Given the description of an element on the screen output the (x, y) to click on. 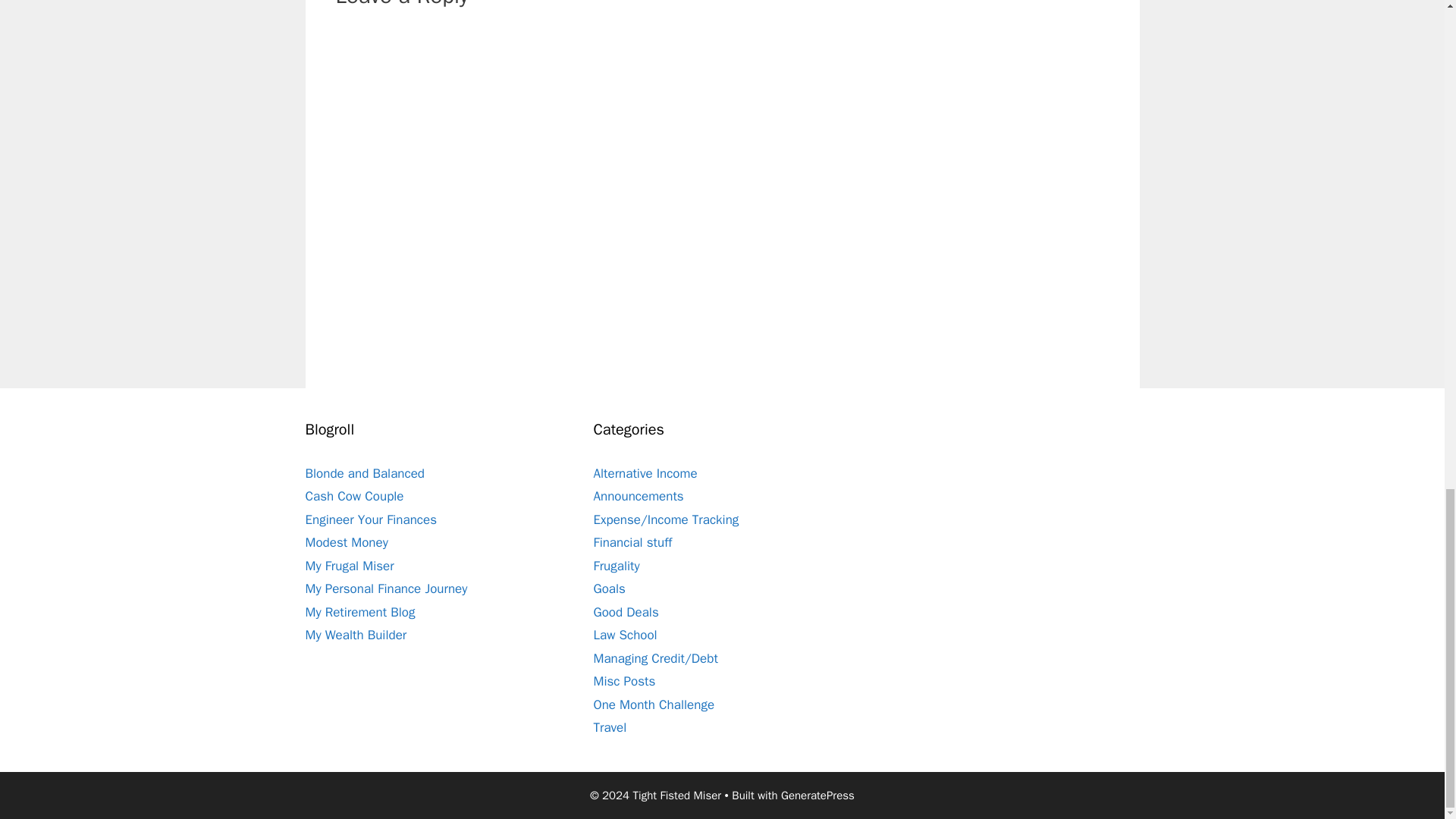
Engineer Your Finances (370, 519)
My Frugal Miser (348, 565)
Announcements (637, 496)
Frugality (615, 565)
Blonde and Balanced (364, 473)
My Personal Finance Journey (385, 588)
Law School (624, 634)
My Wealth Builder (355, 634)
My Retirement Blog (359, 611)
Goals (608, 588)
Alternative Income (644, 473)
Good Deals (625, 611)
Modest Money (345, 542)
Cash Cow Couple (353, 496)
